Given the description of an element on the screen output the (x, y) to click on. 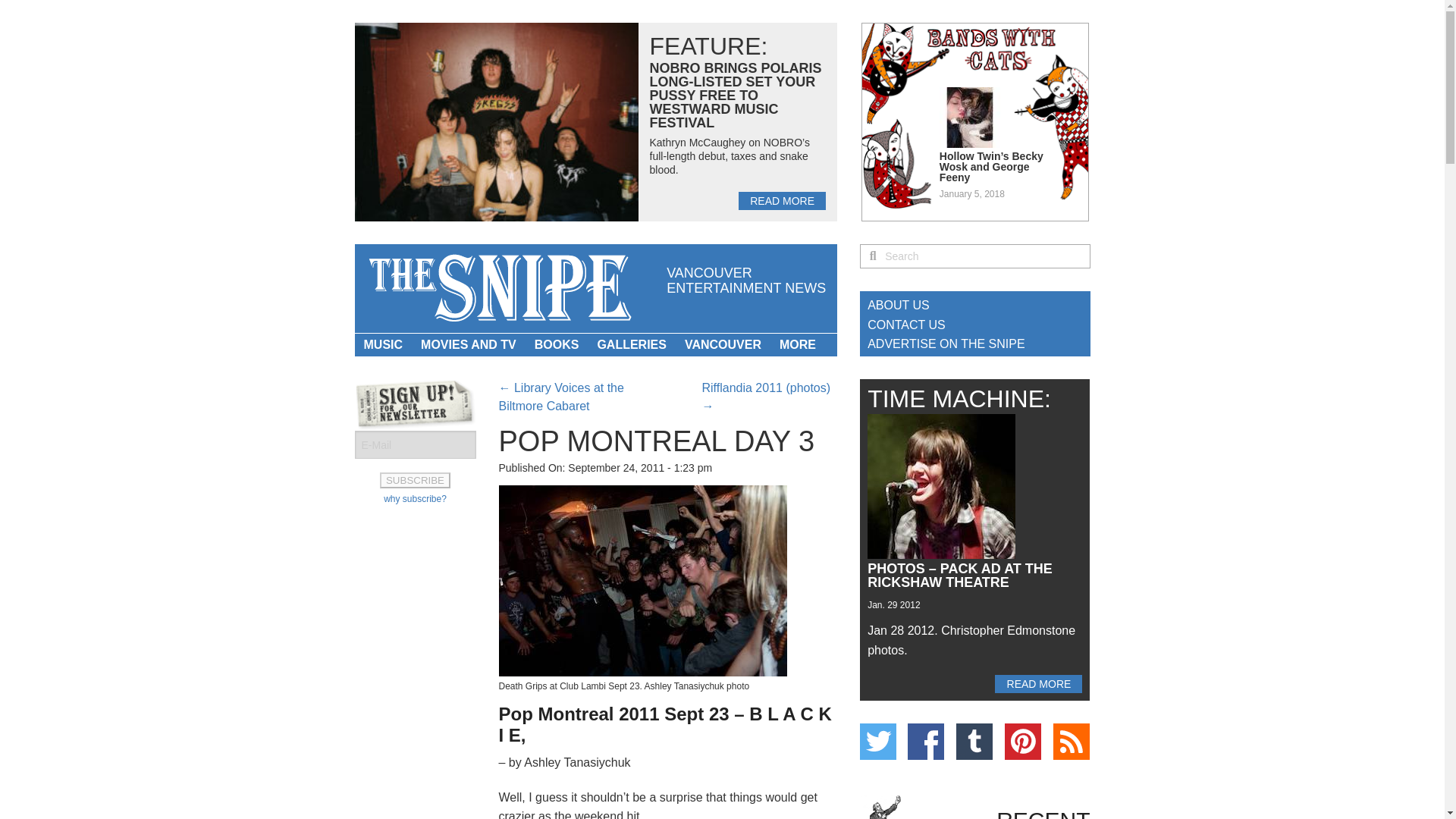
SUBSCRIBE (414, 480)
GALLERIES (631, 344)
MUSIC (383, 344)
READ MORE (781, 200)
BOOKS (556, 344)
The Snipe News (498, 288)
MOVIES AND TV (468, 344)
The Snipe News (498, 288)
Search (984, 255)
